Given the description of an element on the screen output the (x, y) to click on. 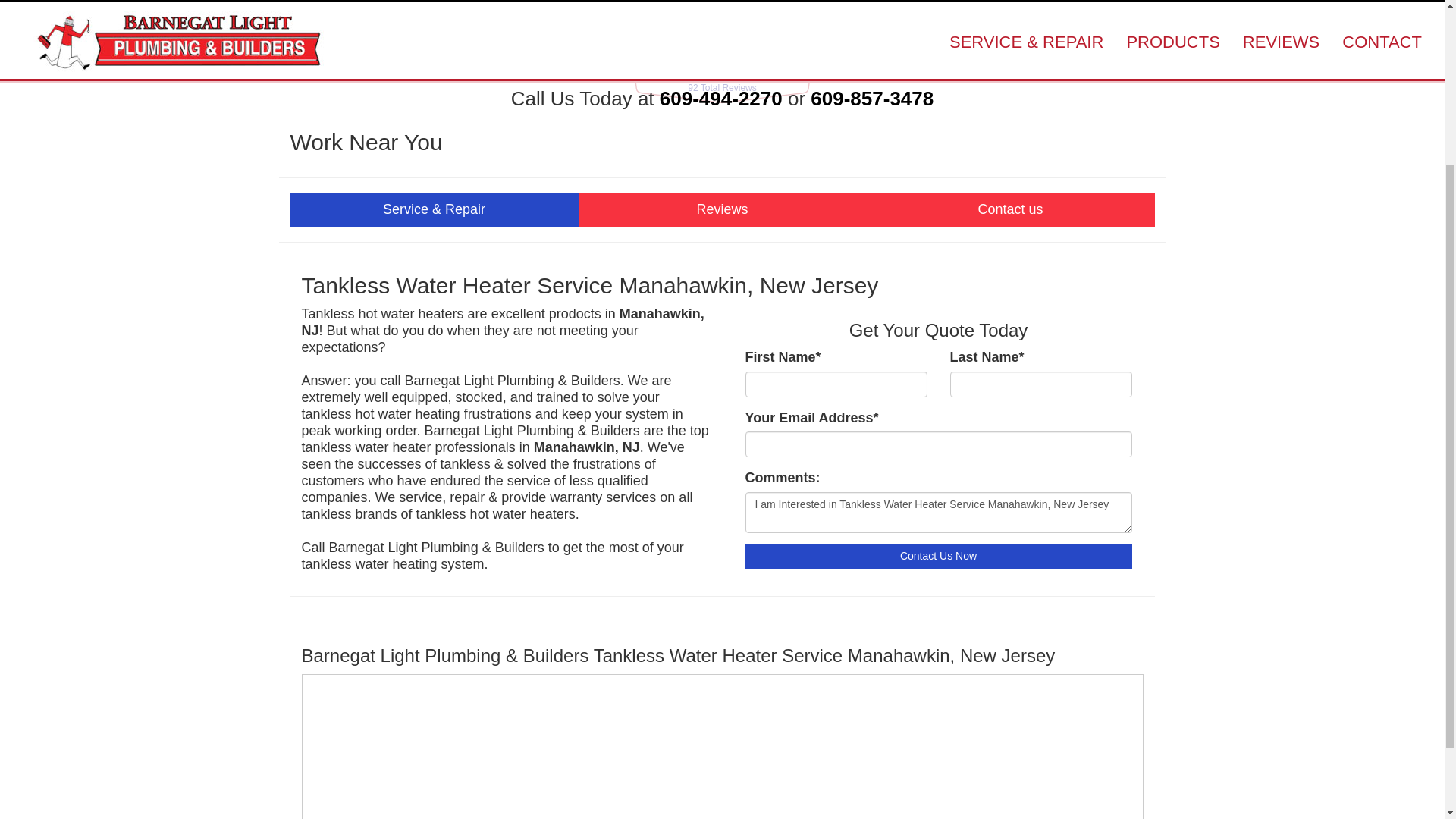
Contact us (1010, 209)
Contact Us Now (937, 556)
Reviews (722, 209)
92 Total Reviews (722, 87)
